Given the description of an element on the screen output the (x, y) to click on. 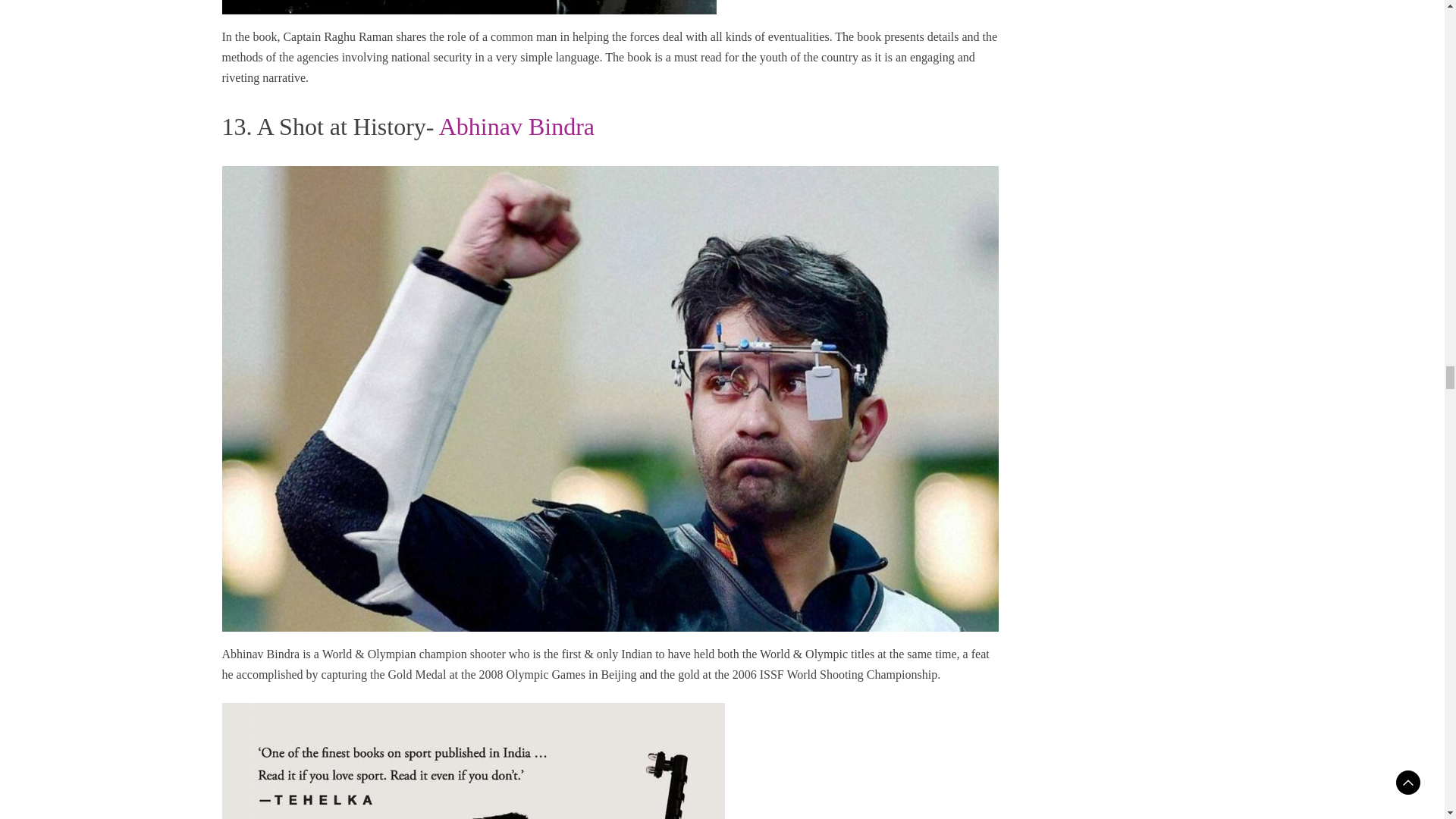
Abhinav Bindra (516, 126)
